Given the description of an element on the screen output the (x, y) to click on. 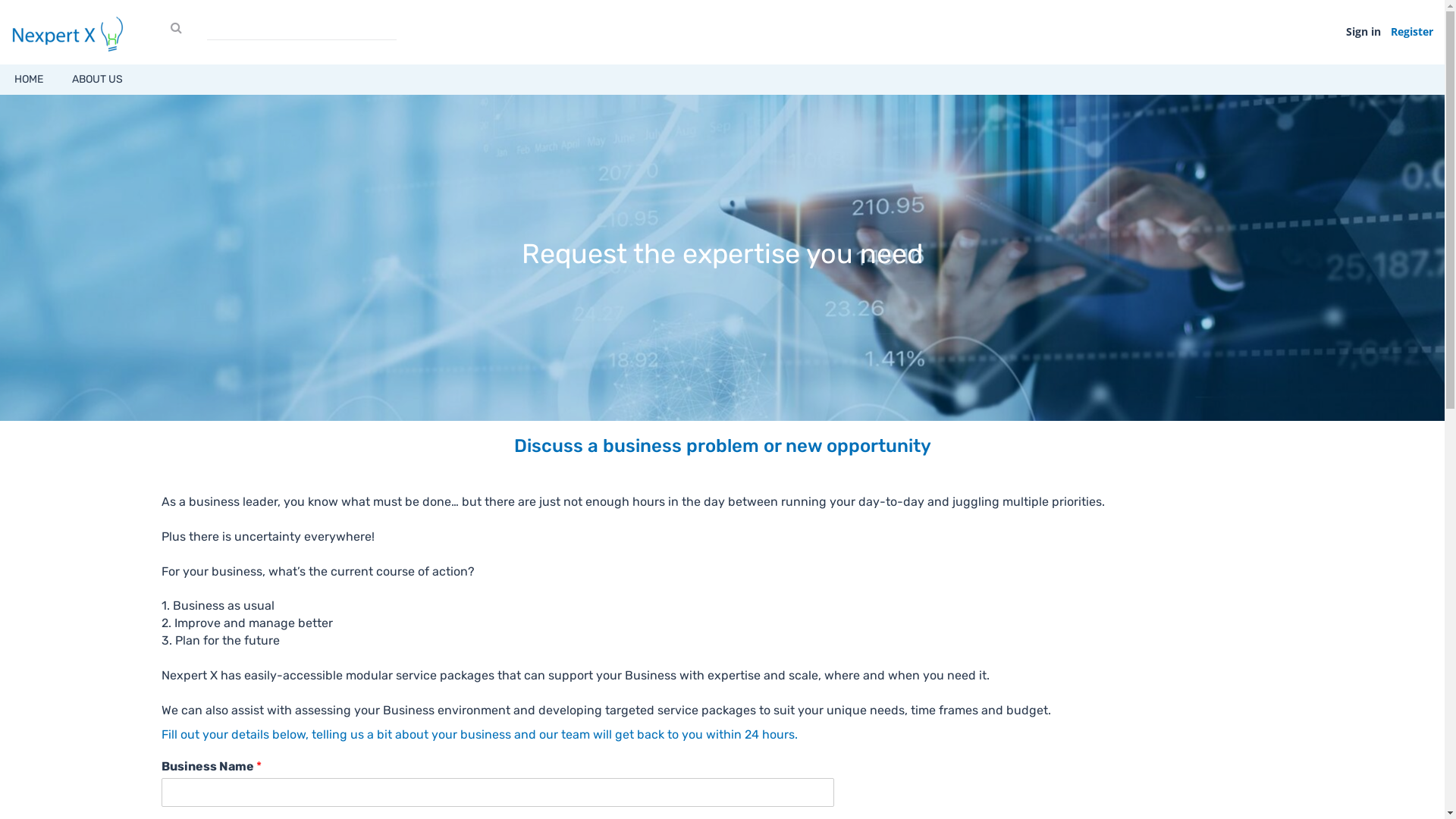
Register Element type: text (1408, 31)
HOME Element type: text (28, 79)
Sign in Element type: text (1363, 31)
ABOUT US Element type: text (97, 79)
